Given the description of an element on the screen output the (x, y) to click on. 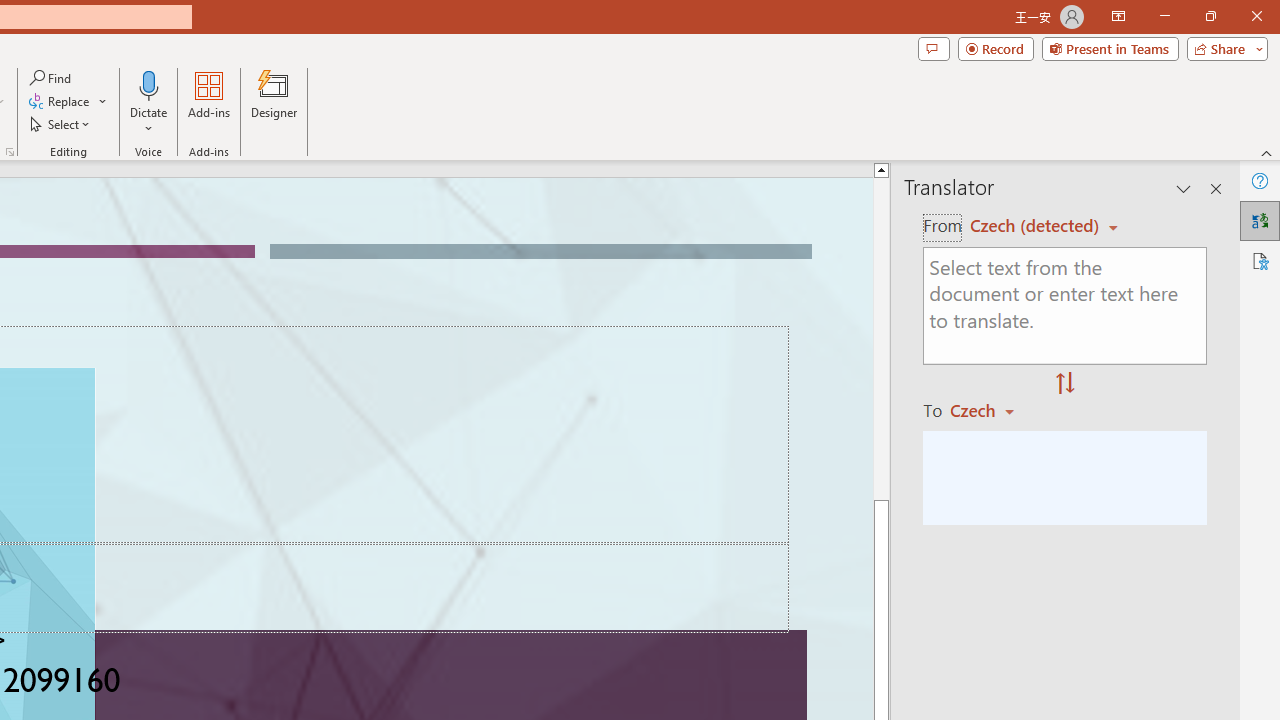
Swap "from" and "to" languages. (1065, 383)
Czech (detected) (1037, 225)
